Given the description of an element on the screen output the (x, y) to click on. 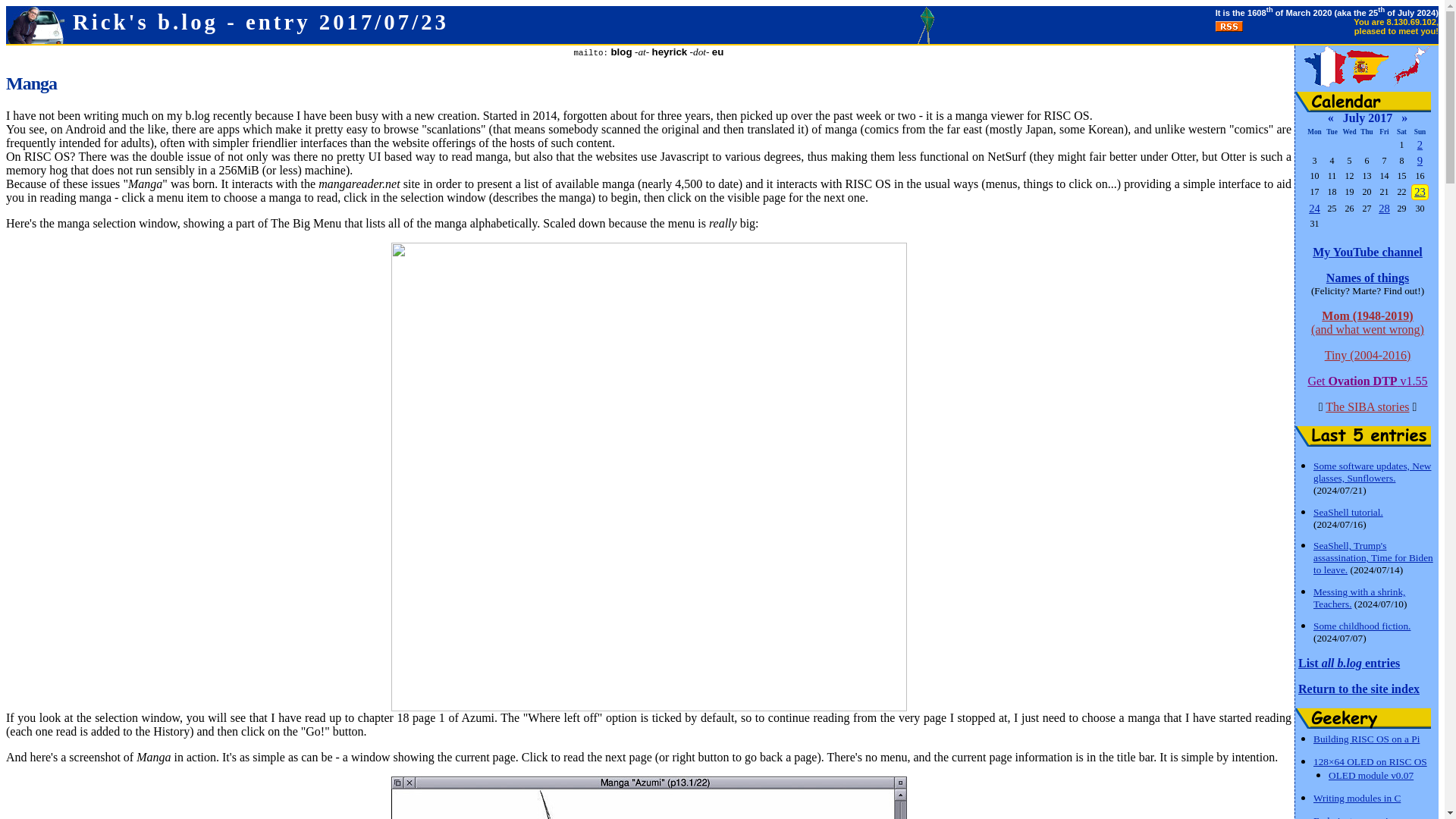
Names of things (1367, 277)
Get Ovation DTP v1.55 (1366, 380)
24 (1314, 208)
28 (1384, 208)
July 2017 (1366, 117)
Last 5 entries (1363, 435)
Manga, Rants: Charlie, Women, Brexit (1419, 191)
Calendar (1363, 101)
SeaShell tutorial. (1348, 511)
Return to the site index (1358, 688)
Building RISC OS on a Pi (1366, 738)
The SIBA stories (1366, 406)
Geekery (1363, 718)
23 (1419, 191)
Messing with a shrink, Teachers. (1359, 597)
